Given the description of an element on the screen output the (x, y) to click on. 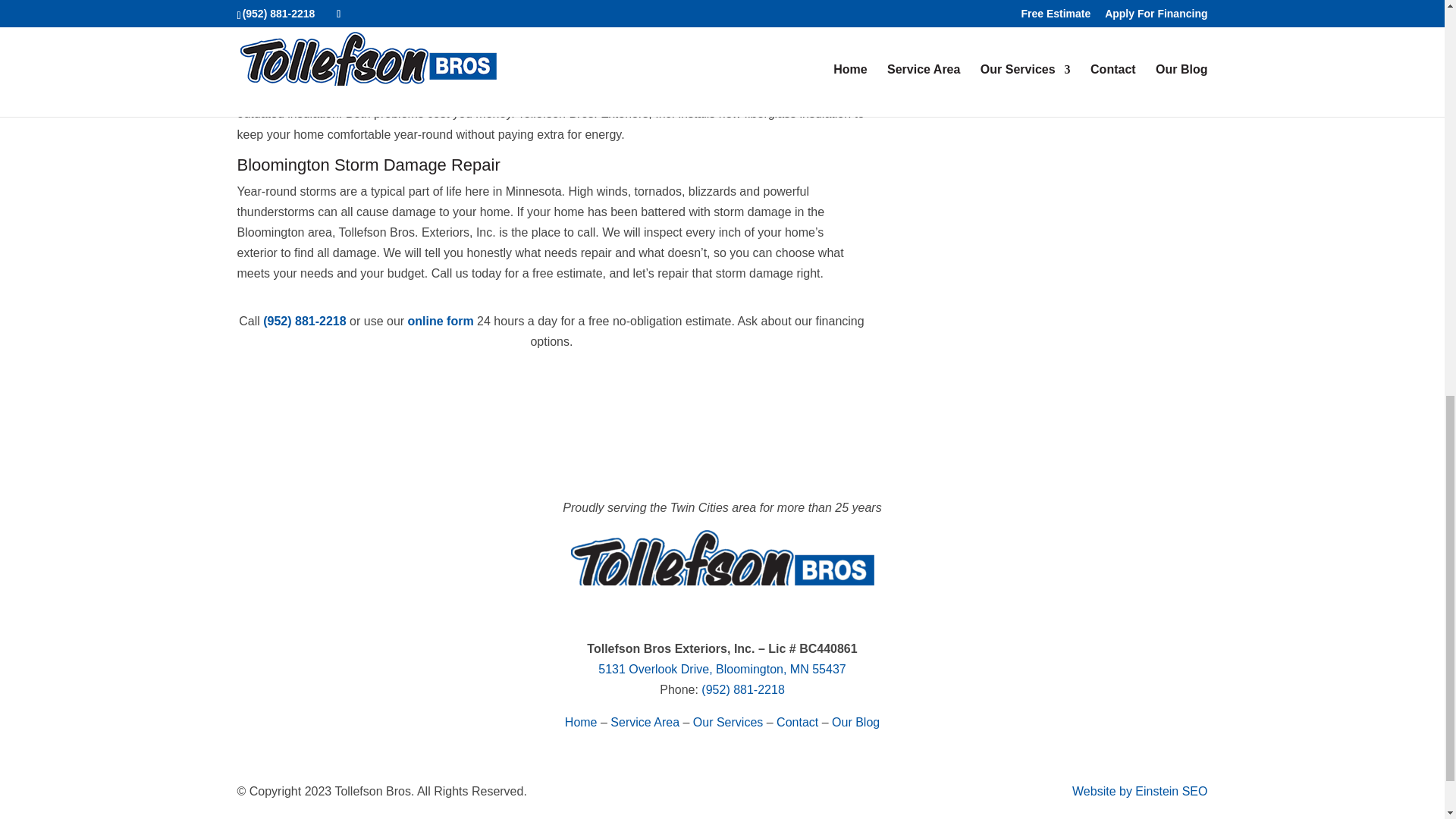
Home (580, 721)
Our Services (727, 721)
Service Area (644, 721)
Contact (797, 721)
online form (440, 320)
5131 Overlook Drive, Bloomington, MN 55437 (721, 668)
Website by Einstein SEO (1139, 790)
Our Blog (855, 721)
